Given the description of an element on the screen output the (x, y) to click on. 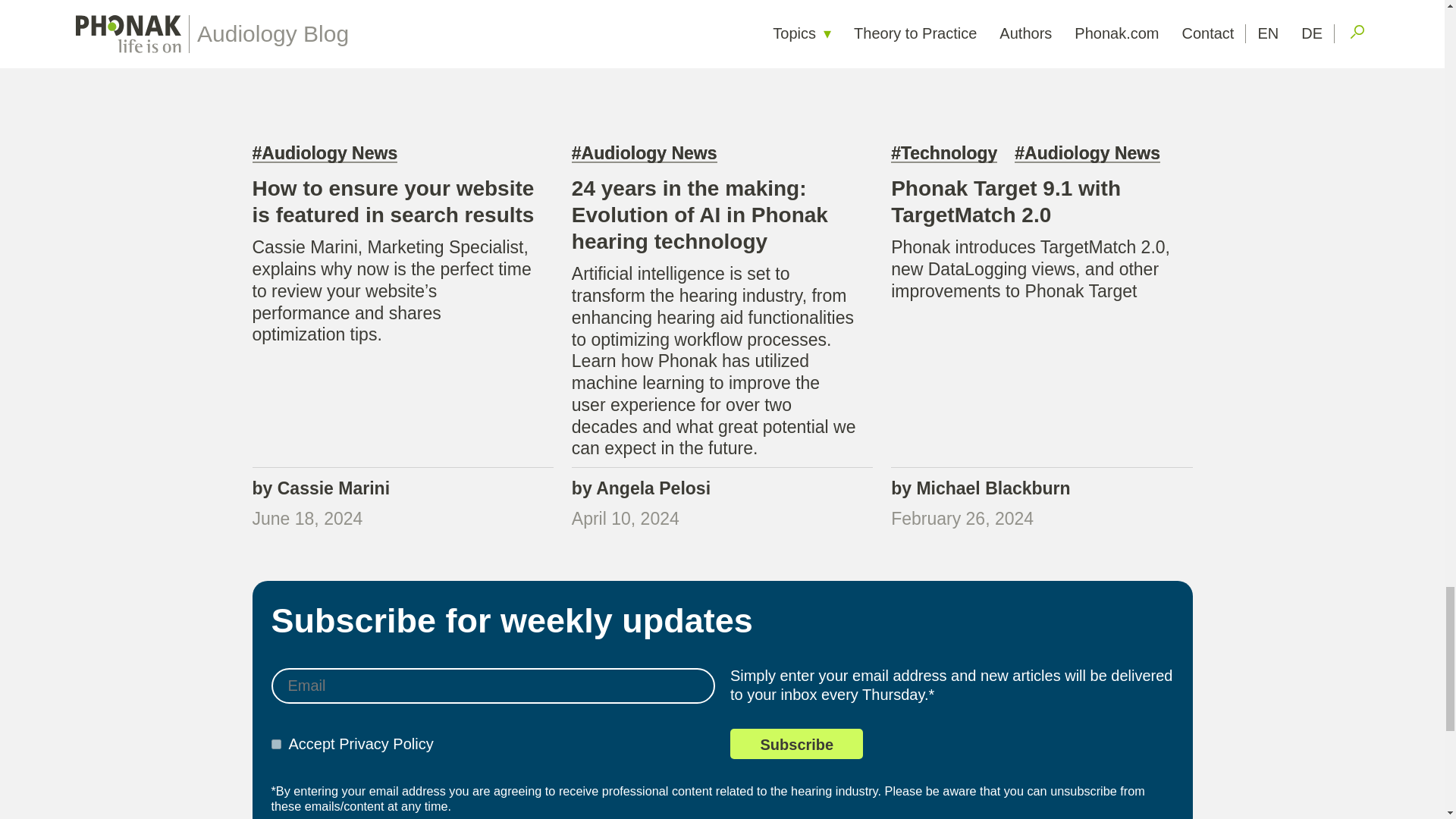
Phonak Target 9.1 with TargetMatch 2.0 (1006, 201)
on (275, 744)
How to ensure your website is featured in search results (392, 201)
